Given the description of an element on the screen output the (x, y) to click on. 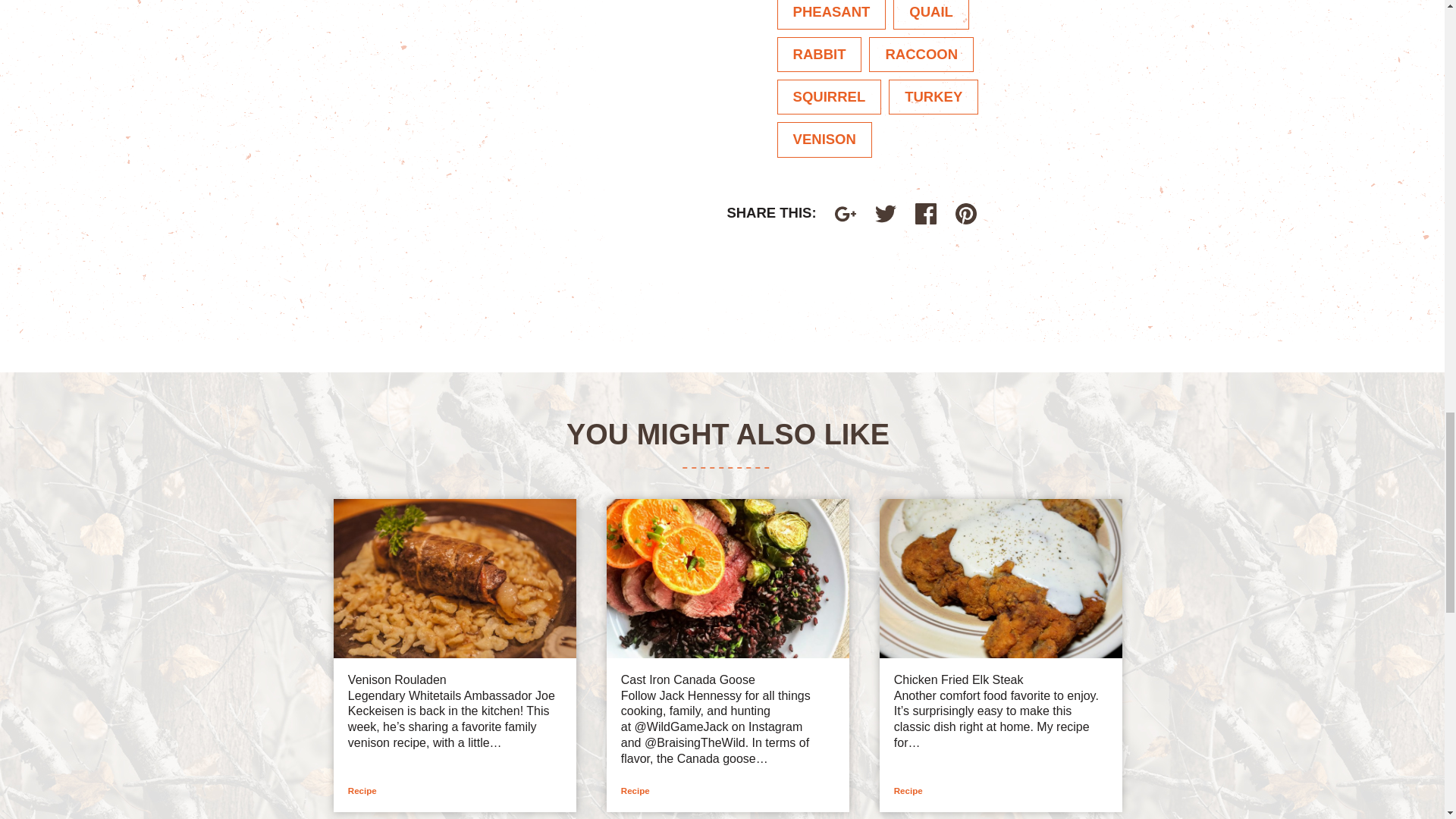
QUAIL (931, 14)
Venison Rouladen (396, 680)
PHEASANT (831, 14)
Recipe (362, 790)
Cast Iron Canada Goose (688, 680)
VENISON (824, 139)
TURKEY (933, 96)
SQUIRREL (829, 96)
RABBIT (819, 54)
RACCOON (921, 54)
